Given the description of an element on the screen output the (x, y) to click on. 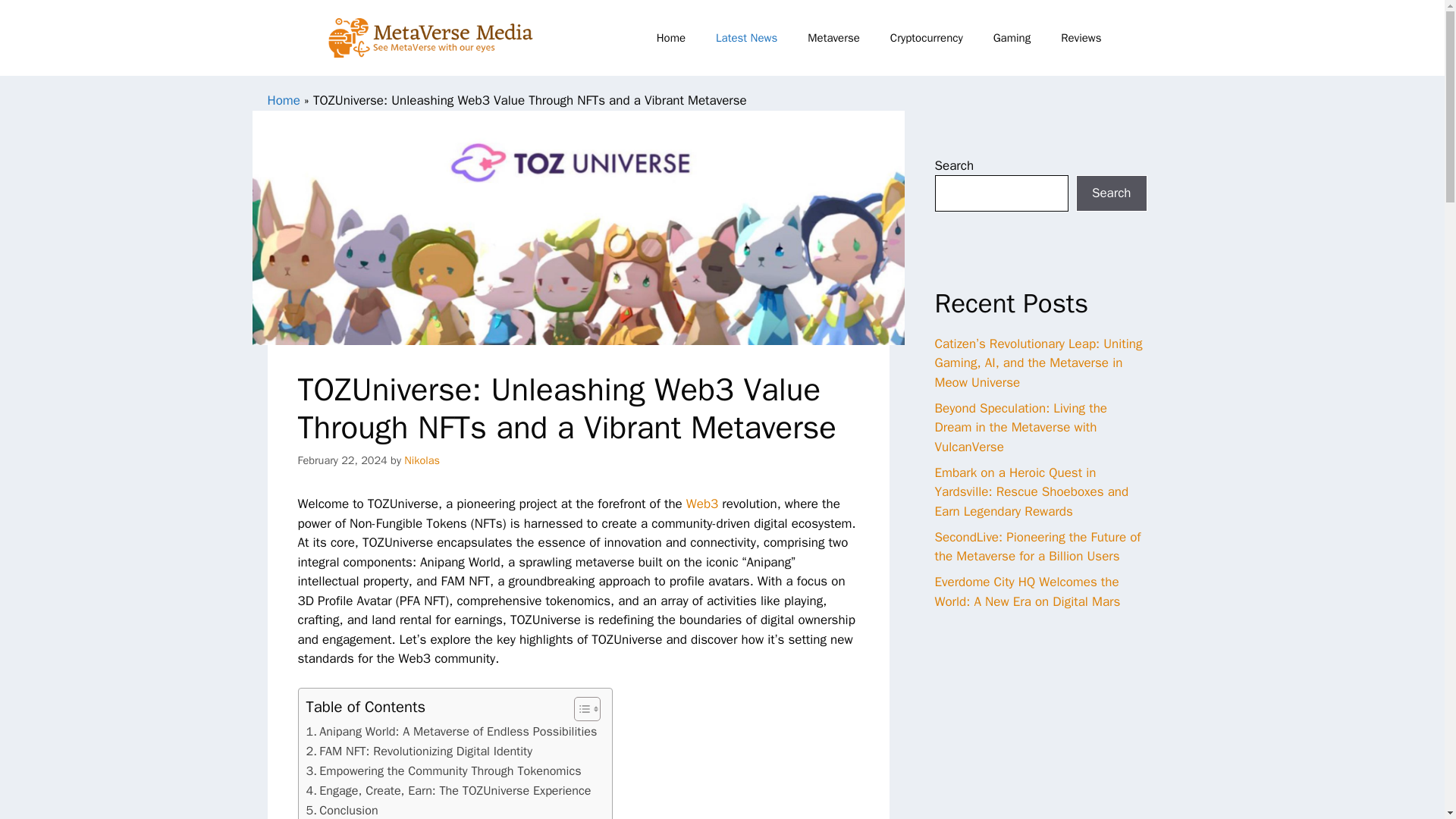
Conclusion (341, 809)
Home (282, 100)
Home (671, 37)
Search (1111, 193)
Empowering the Community Through Tokenomics (442, 771)
View all posts by Nikolas (421, 459)
Metaverse (833, 37)
Anipang World: A Metaverse of Endless Possibilities (450, 731)
